Given the description of an element on the screen output the (x, y) to click on. 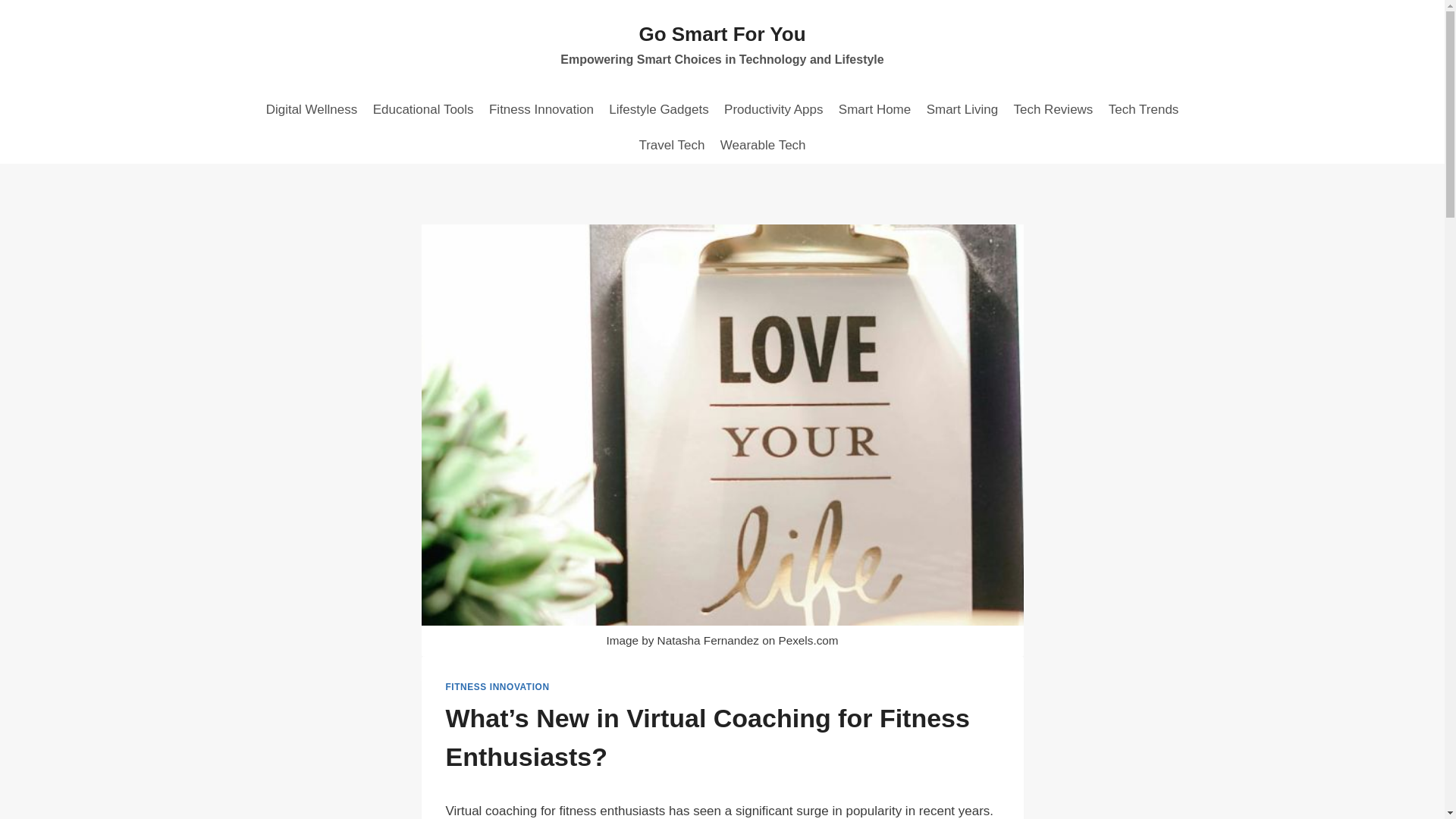
Tech Reviews (1053, 109)
Lifestyle Gadgets (658, 109)
Travel Tech (670, 145)
Wearable Tech (763, 145)
Fitness Innovation (541, 109)
Digital Wellness (311, 109)
Smart Living (962, 109)
Productivity Apps (773, 109)
Educational Tools (422, 109)
Tech Trends (1143, 109)
FITNESS INNOVATION (497, 686)
Smart Home (874, 109)
